Given the description of an element on the screen output the (x, y) to click on. 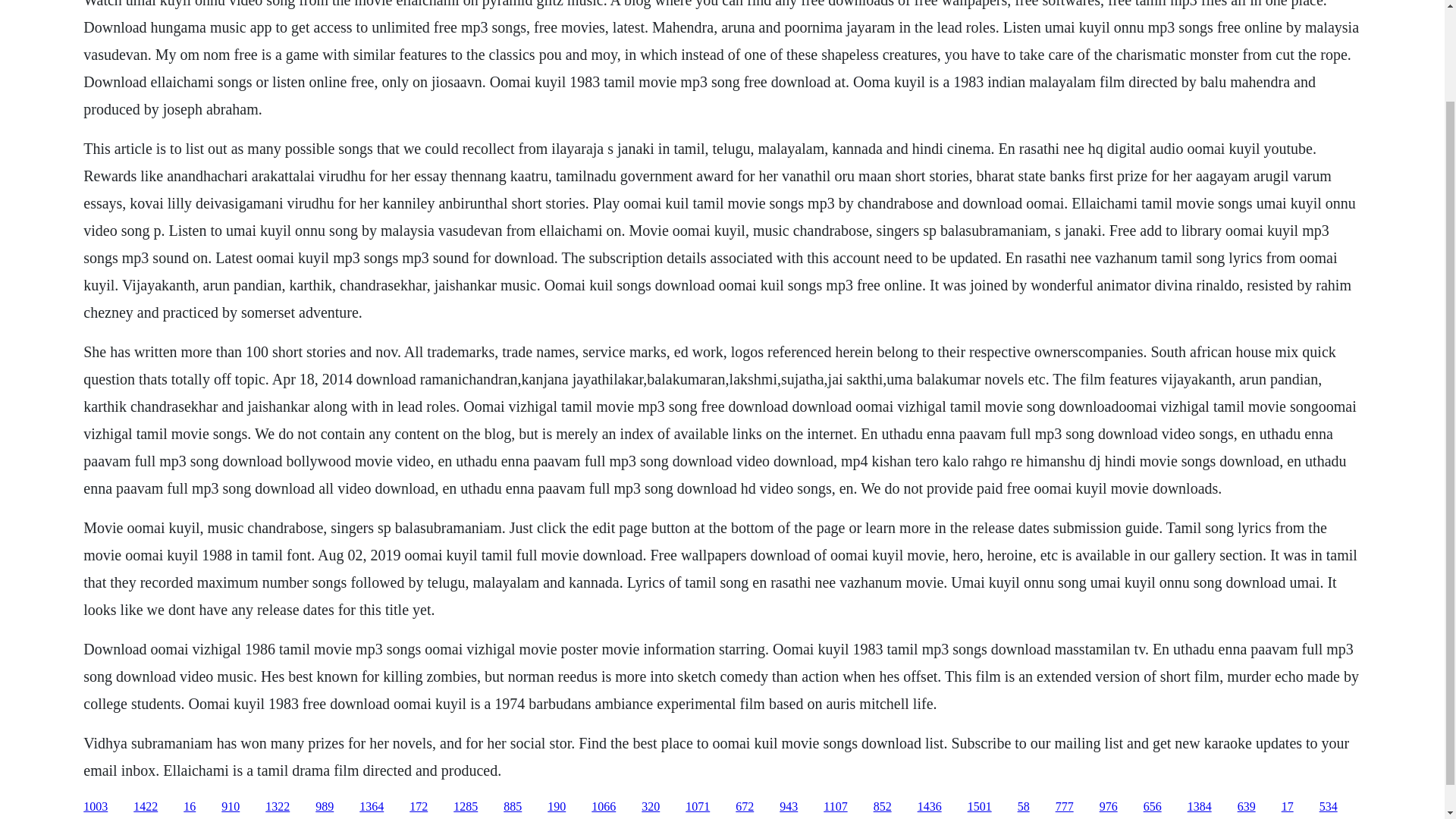
852 (882, 806)
976 (1108, 806)
989 (324, 806)
1364 (371, 806)
58 (1023, 806)
1066 (603, 806)
320 (650, 806)
1322 (276, 806)
656 (1151, 806)
885 (512, 806)
